Given the description of an element on the screen output the (x, y) to click on. 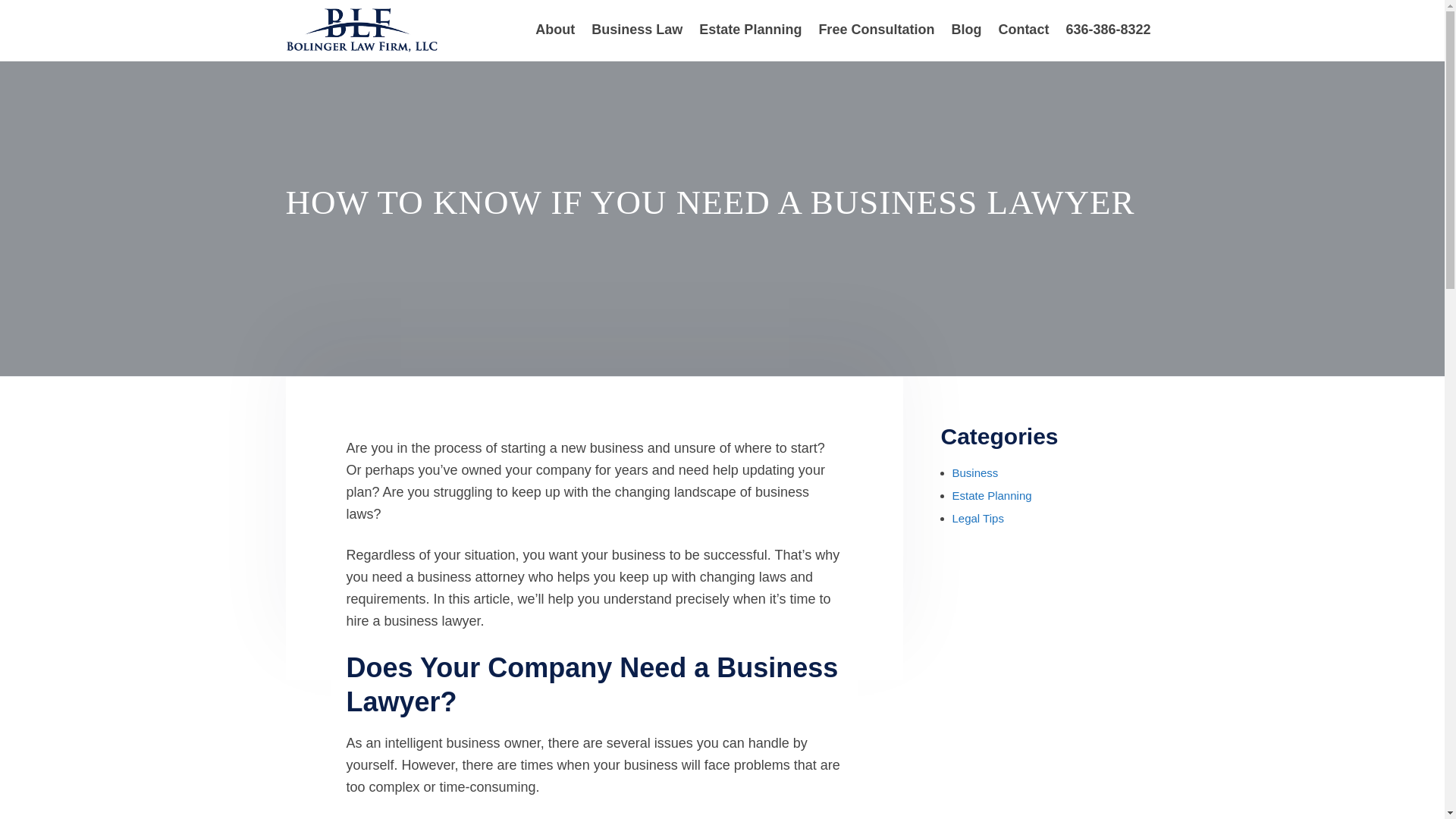
Estate Planning (992, 495)
Business (975, 472)
Estate Planning (750, 29)
Blog (965, 29)
636-386-8322 (1107, 29)
Contact (1022, 29)
Legal Tips (978, 517)
About (555, 29)
Business Law (636, 29)
